Given the description of an element on the screen output the (x, y) to click on. 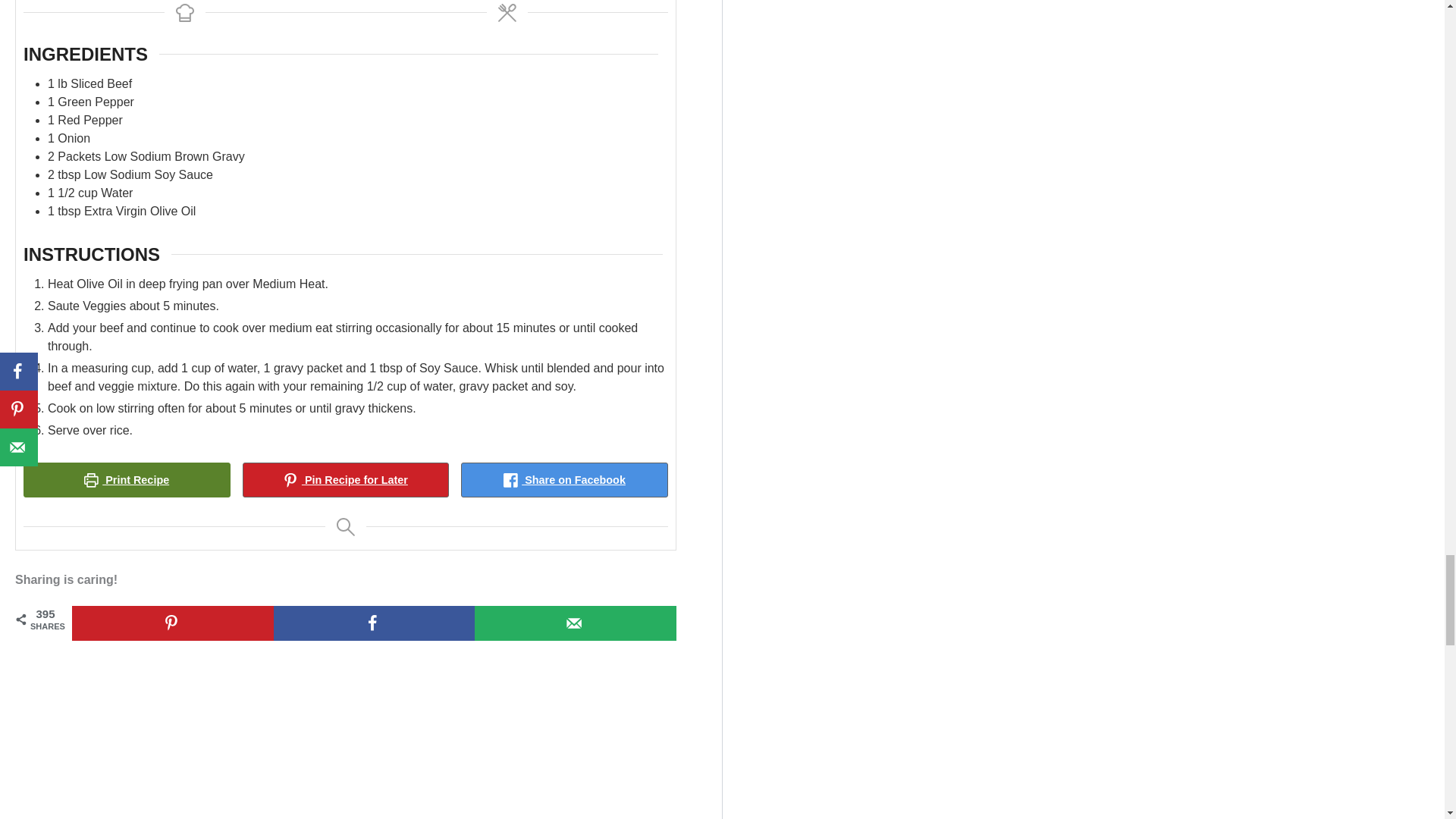
Send over email (575, 623)
Print Recipe (126, 479)
Share on Facebook (564, 479)
Share on Facebook (374, 623)
Save to Pinterest (172, 623)
Pin Recipe for Later (346, 479)
